Given the description of an element on the screen output the (x, y) to click on. 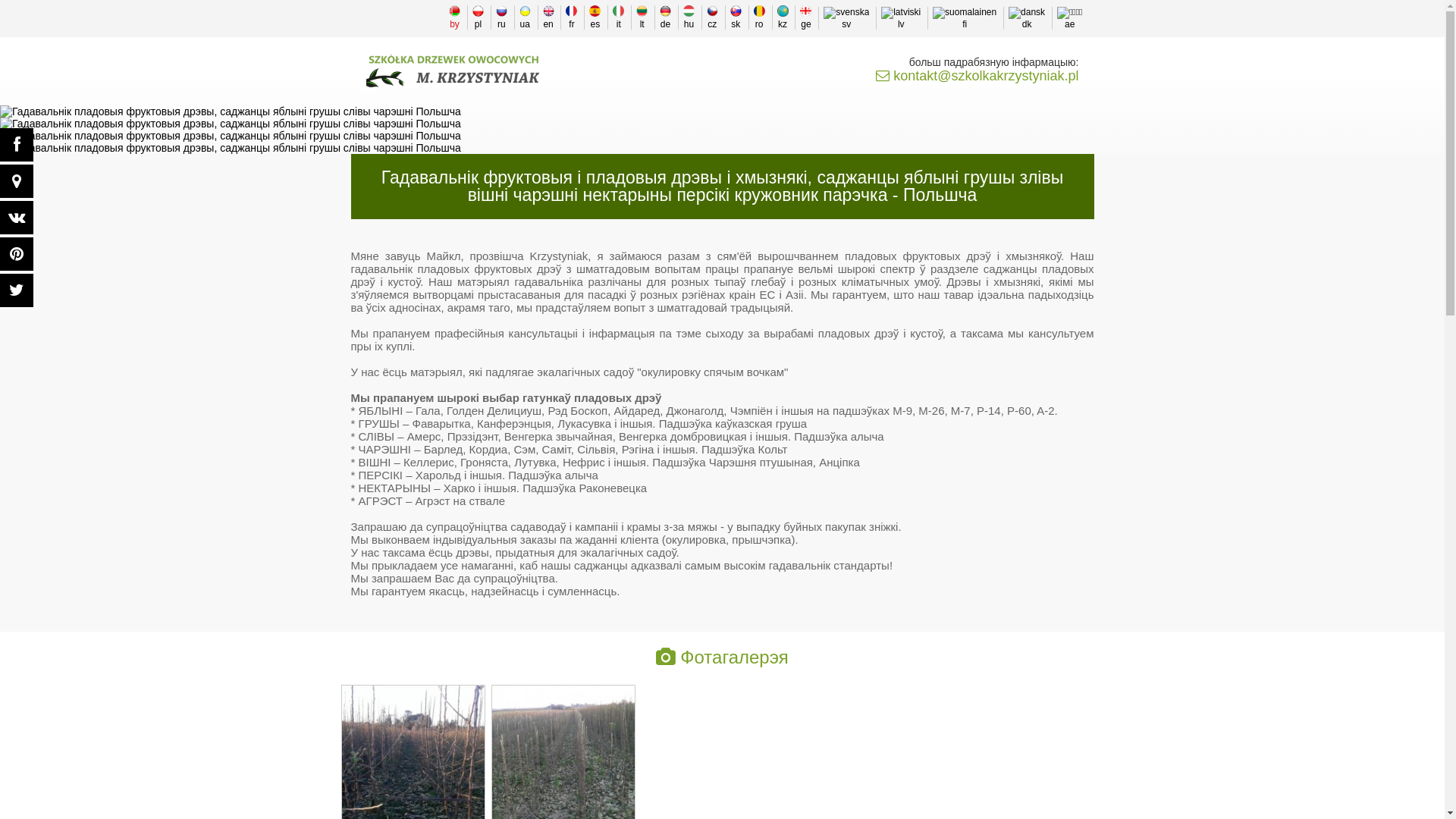
lv Element type: text (900, 17)
ua Element type: text (524, 17)
dk Element type: text (1026, 17)
pl Element type: text (477, 17)
cz Element type: text (711, 17)
 kontakt@szkolkakrzystyniak.pl Element type: text (976, 75)
es Element type: text (594, 17)
it Element type: text (617, 17)
kz Element type: text (781, 17)
lt Element type: text (641, 17)
fr Element type: text (570, 17)
by Element type: text (454, 17)
en Element type: text (548, 17)
de Element type: text (664, 17)
sk Element type: text (735, 17)
ge Element type: text (805, 17)
fi Element type: text (964, 17)
ru Element type: text (501, 17)
ro Element type: text (758, 17)
hu Element type: text (688, 17)
sv Element type: text (845, 17)
ae Element type: text (1069, 17)
